Given the description of an element on the screen output the (x, y) to click on. 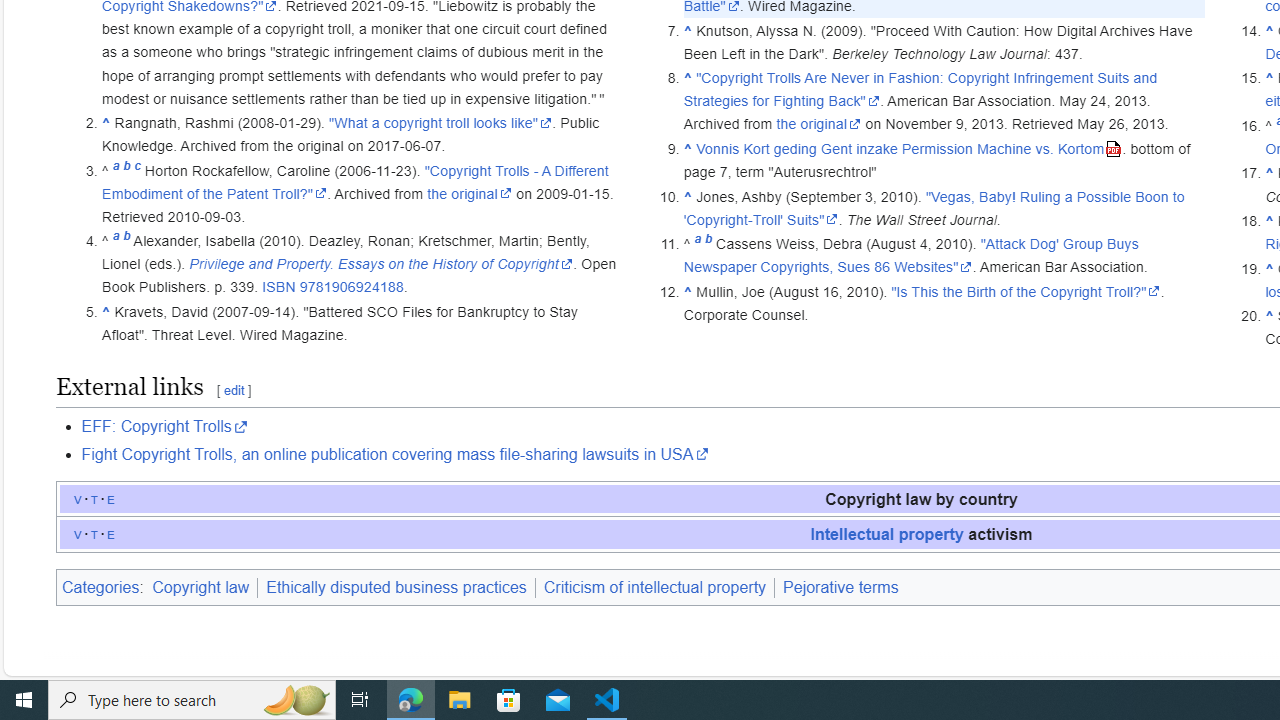
the original (818, 124)
Copyright law (200, 587)
EFF: Copyright Trolls (164, 427)
ISBN (278, 287)
9781906924188 (351, 287)
Criticism of intellectual property (654, 587)
Pejorative terms (840, 587)
Ethically disputed business practices (396, 587)
Categories (100, 587)
"What a copyright troll looks like" (440, 123)
Pejorative terms (840, 587)
